Given the description of an element on the screen output the (x, y) to click on. 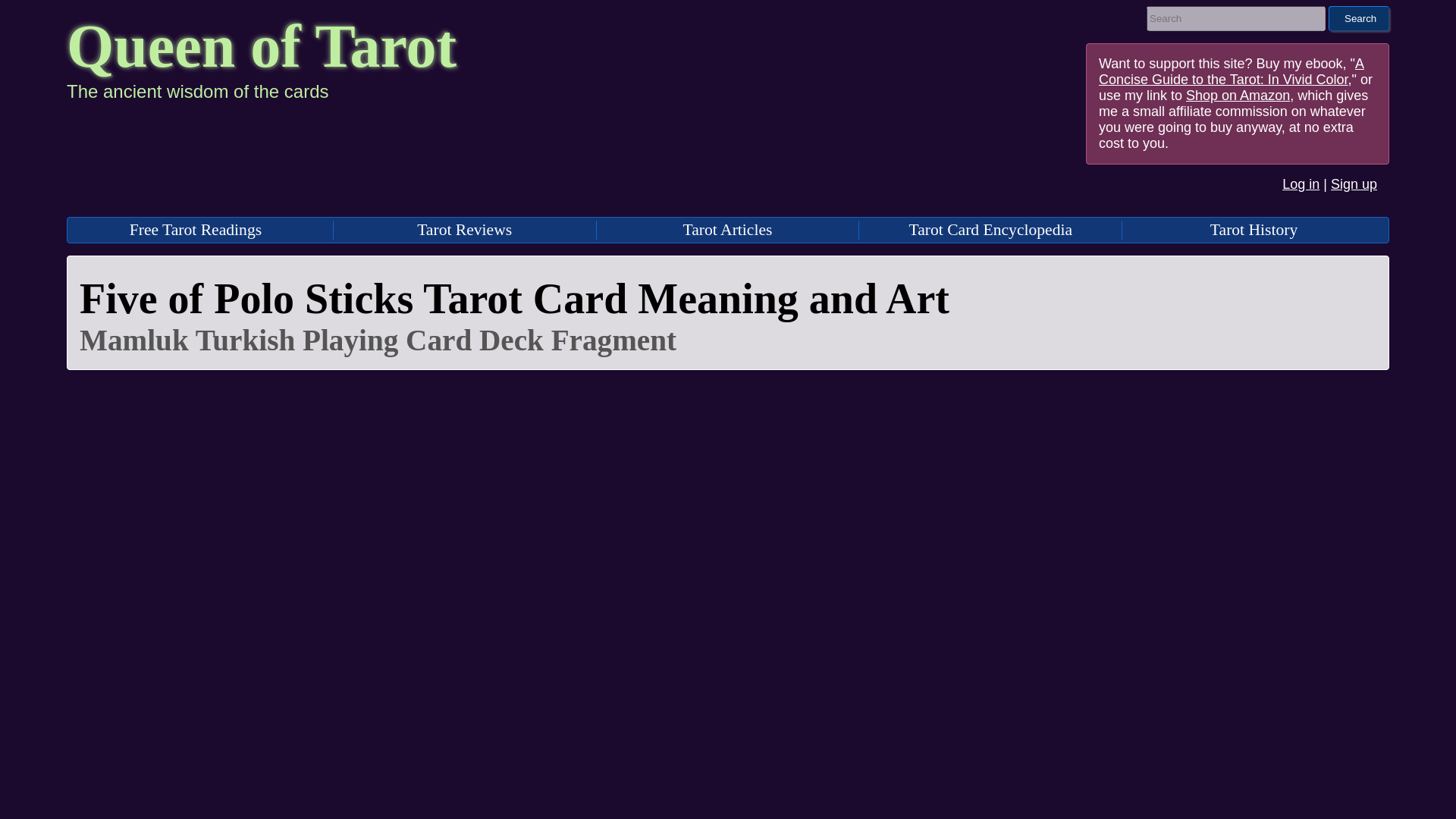
Tarot Articles (727, 229)
Search (1358, 18)
Search (1358, 18)
A Concise Guide to the Tarot: In Vivid Color (1231, 71)
Log in (1300, 183)
Queen of Tarot (261, 46)
Sign up (1353, 183)
Tarot Reviews (464, 229)
Free Tarot Readings (195, 229)
Tarot History (1253, 229)
Shop on Amazon (1238, 95)
Tarot Card Encyclopedia (990, 229)
